Given the description of an element on the screen output the (x, y) to click on. 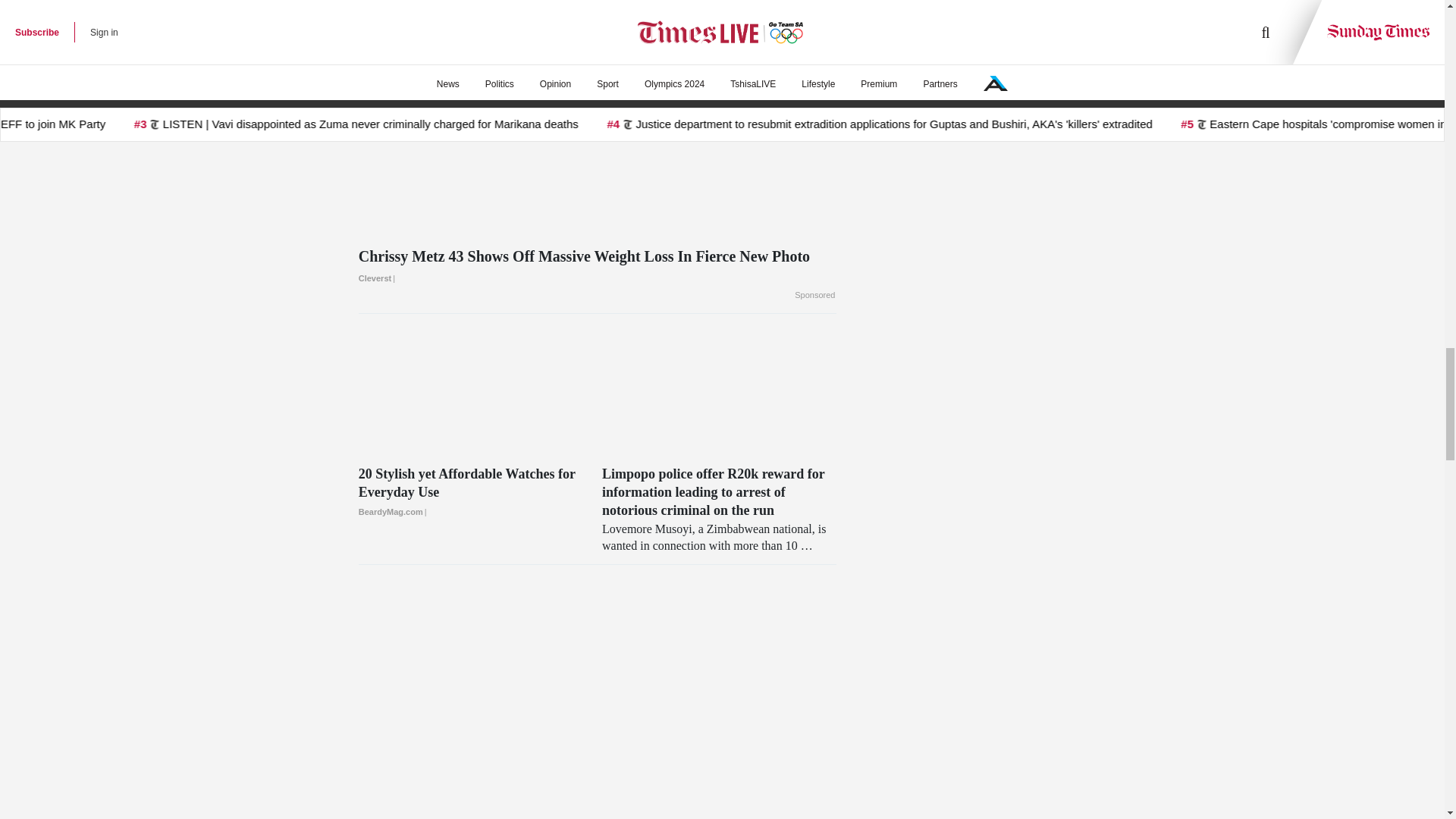
20 Stylish yet Affordable Watches for Everyday Use (475, 492)
